Given the description of an element on the screen output the (x, y) to click on. 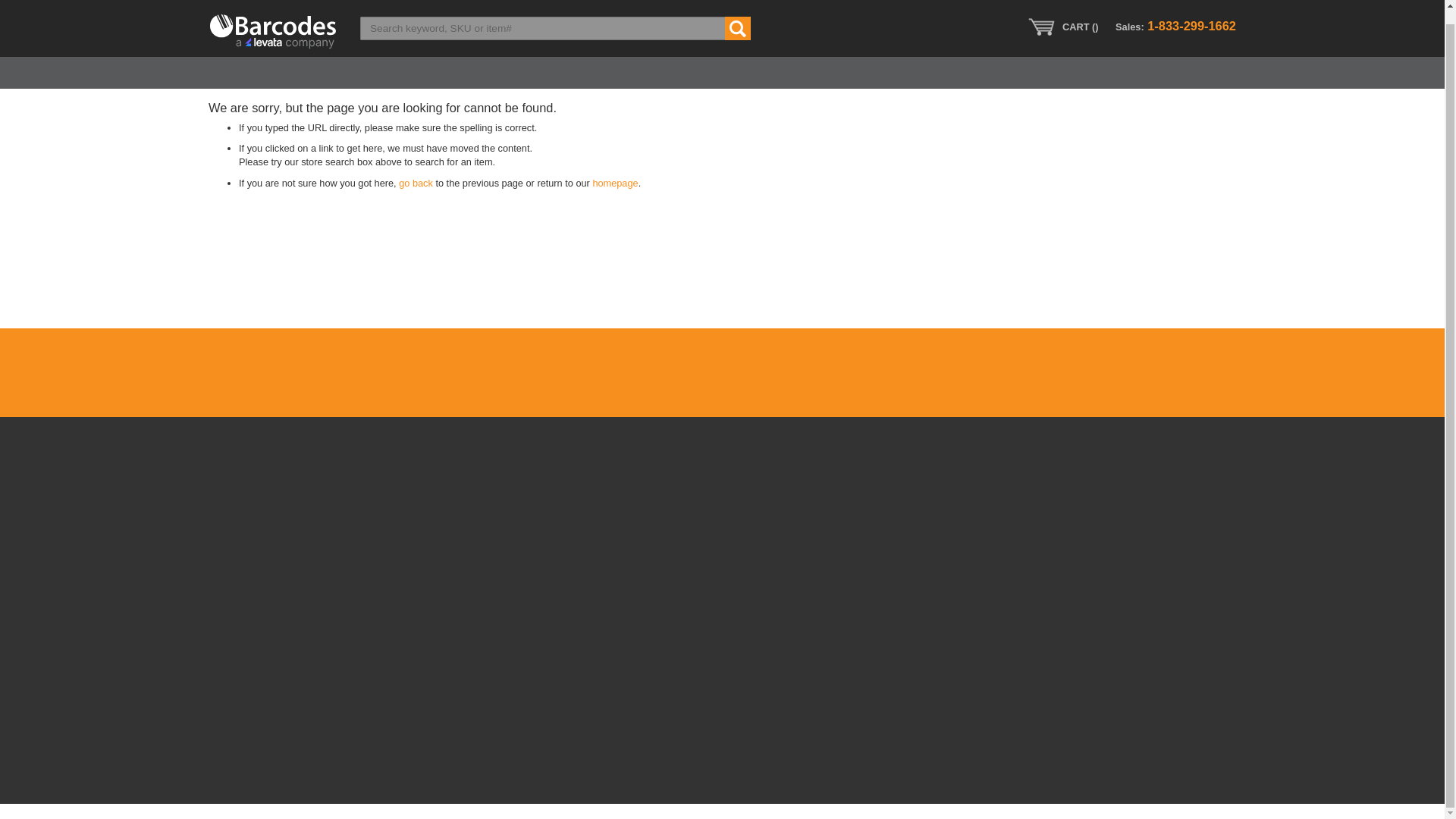
Search (738, 14)
homepage (614, 183)
Sales: 1-833-299-1662 (1175, 12)
Search (738, 14)
go back (415, 183)
logo white.svg (272, 18)
